Given the description of an element on the screen output the (x, y) to click on. 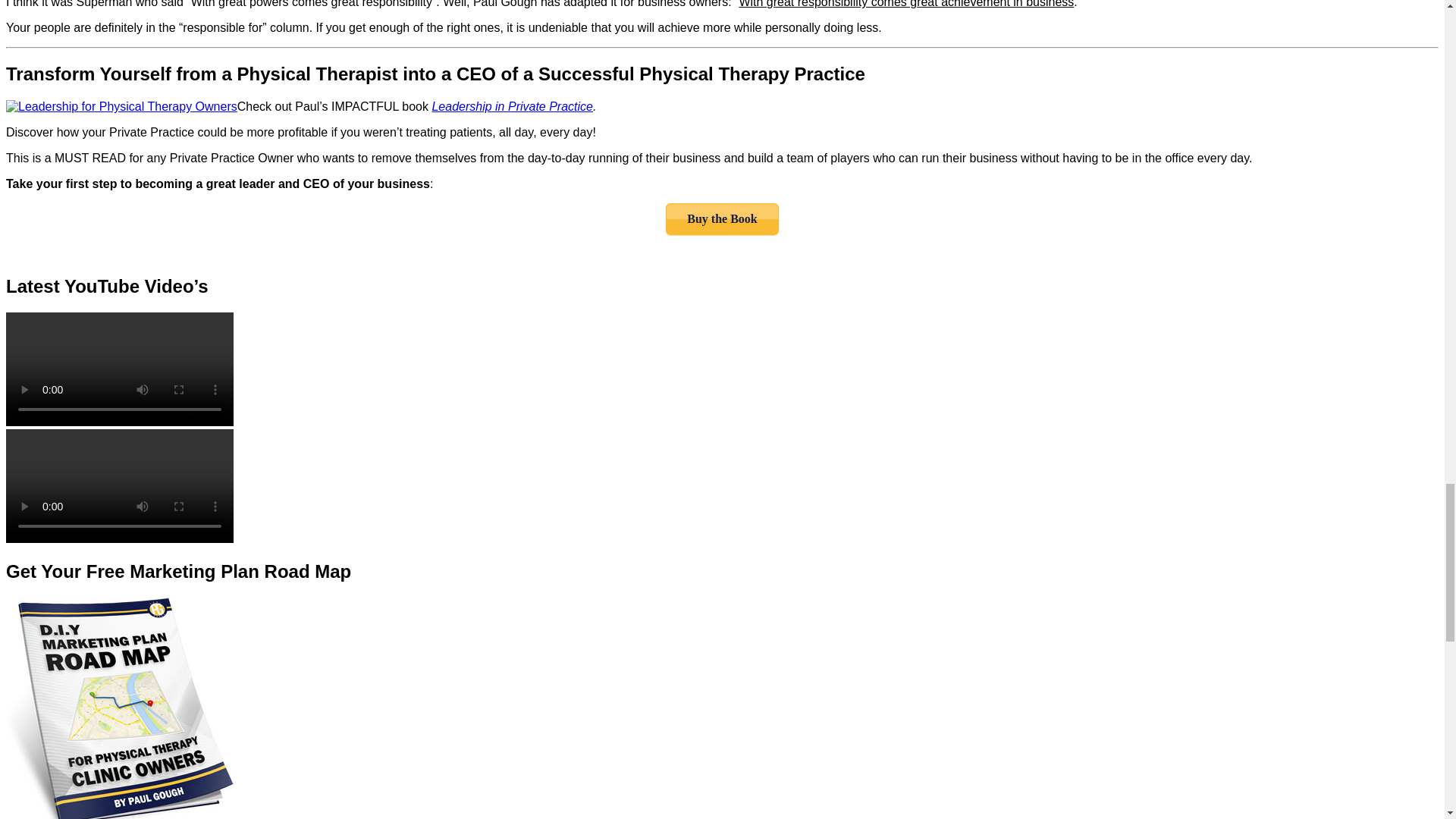
Buy the Book (721, 219)
Leadership in Private Practice (511, 106)
